Given the description of an element on the screen output the (x, y) to click on. 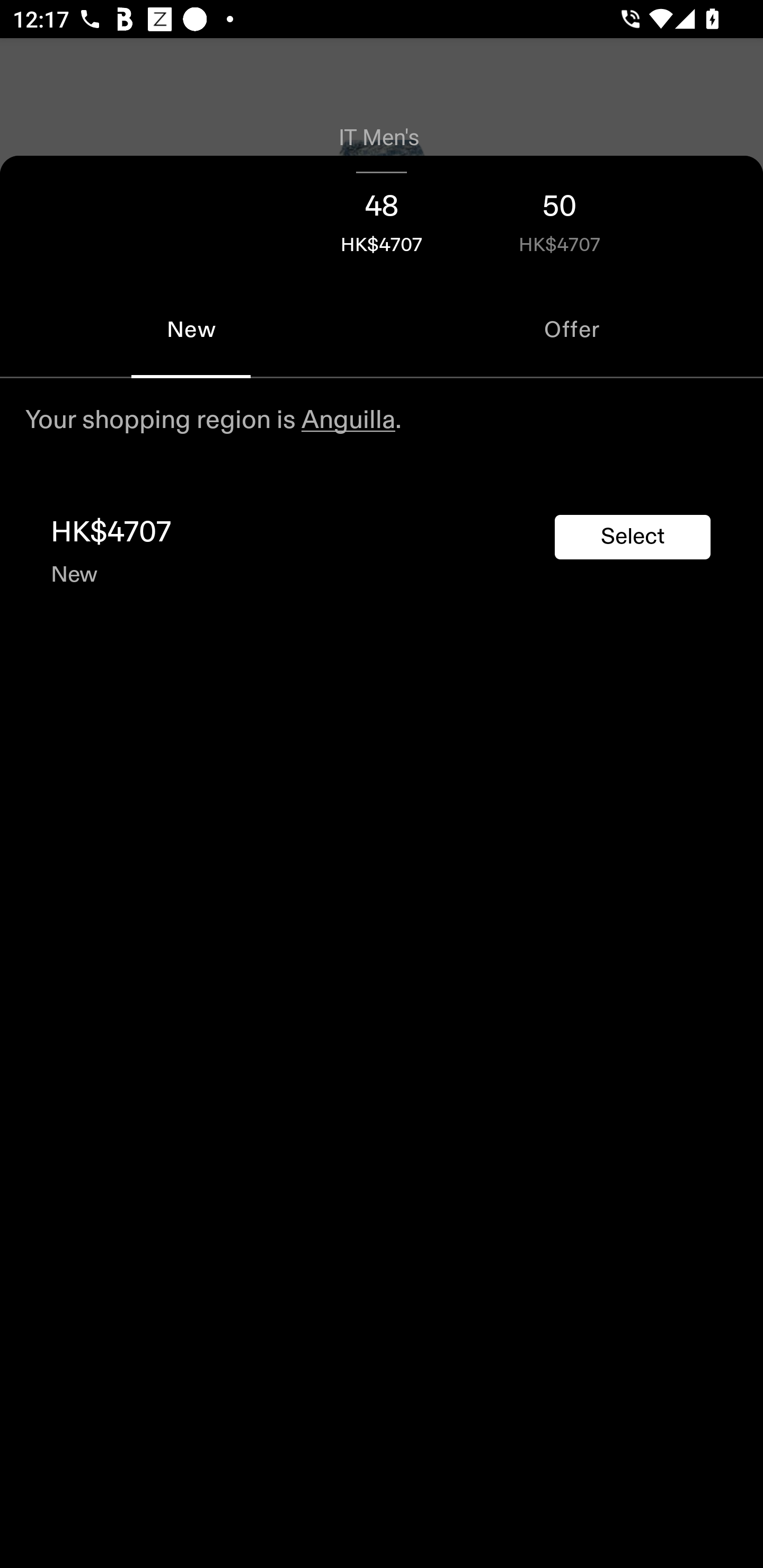
48 HK$4707 (381, 218)
50 HK$4707 (559, 218)
Offer (572, 329)
Select (632, 536)
